Given the description of an element on the screen output the (x, y) to click on. 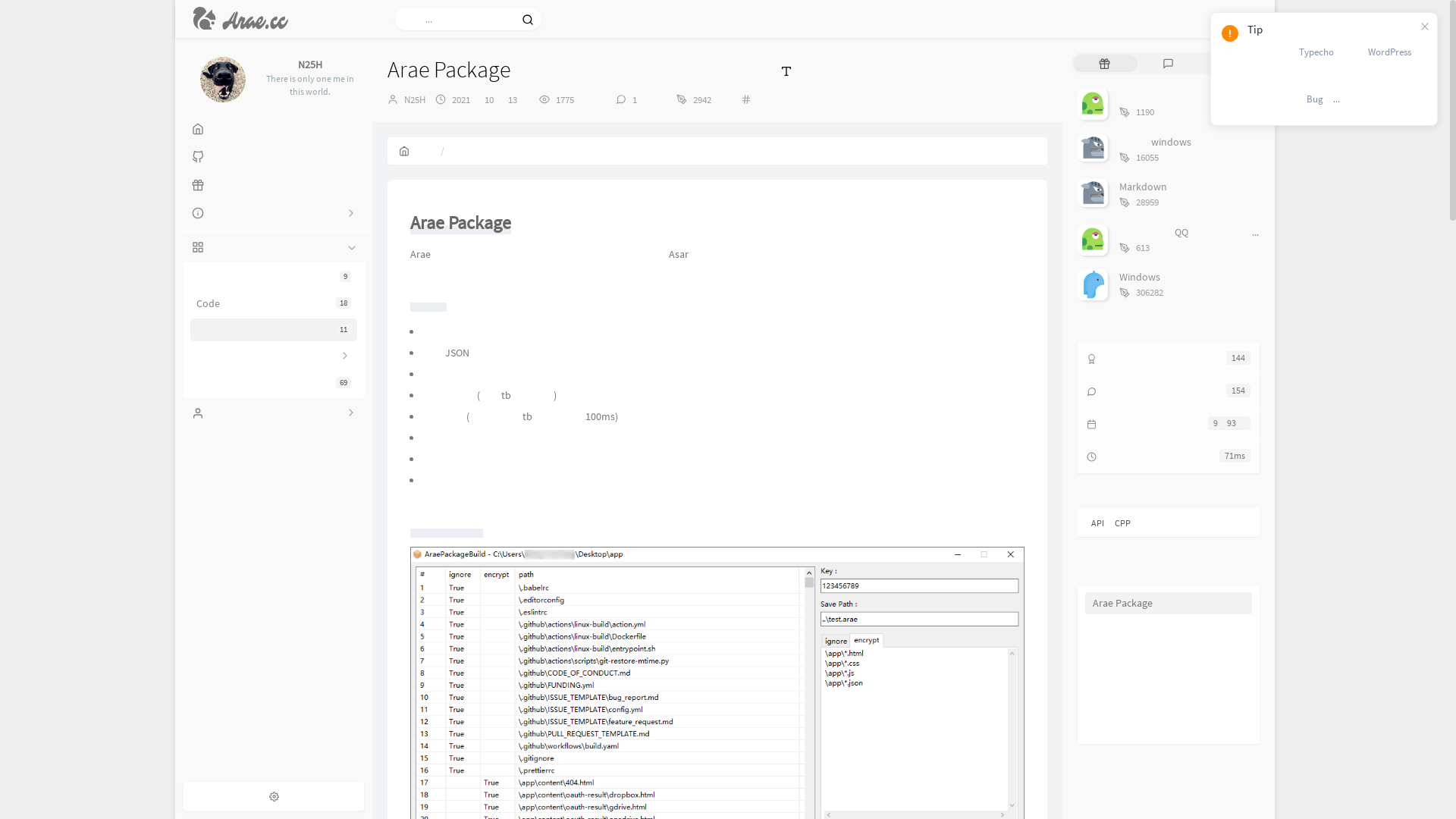
N25H Element type: text (414, 99)
API Element type: text (1097, 523)
Arae Package Element type: text (1168, 603)
CPP Element type: text (1122, 523)
18
Code Element type: text (273, 302)
